Given the description of an element on the screen output the (x, y) to click on. 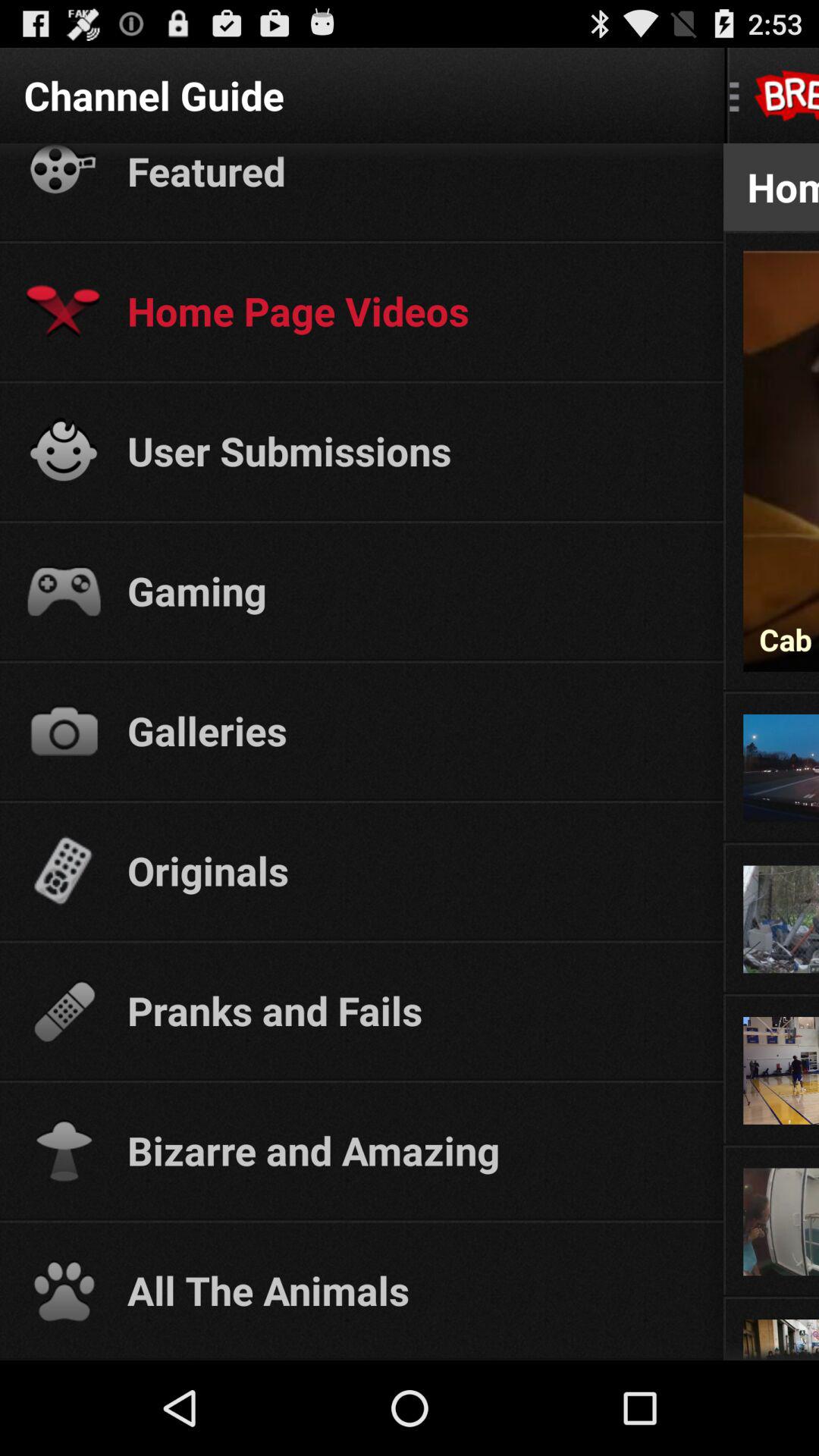
turn on gaming app (411, 590)
